Given the description of an element on the screen output the (x, y) to click on. 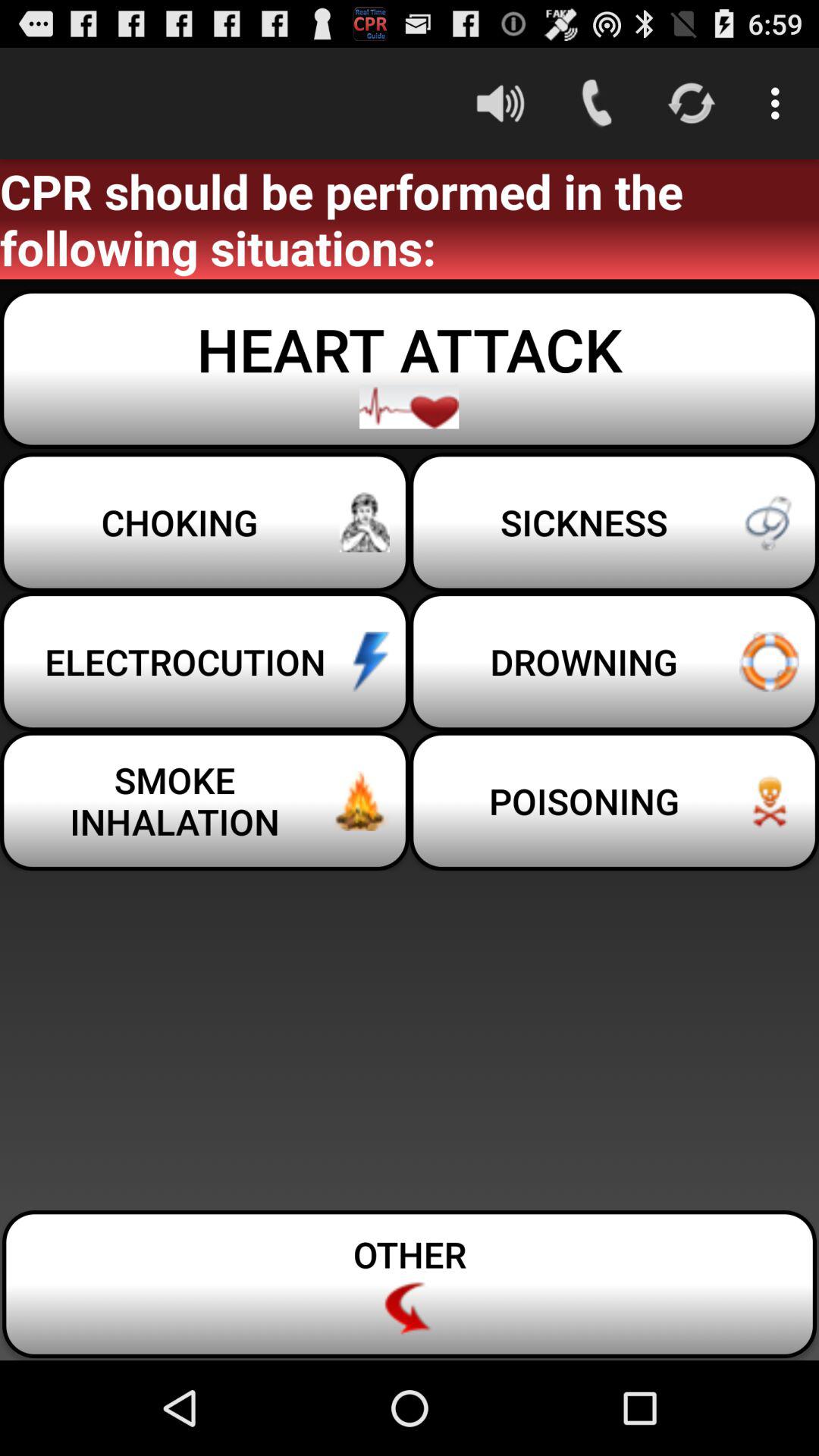
select icon above other item (614, 800)
